Given the description of an element on the screen output the (x, y) to click on. 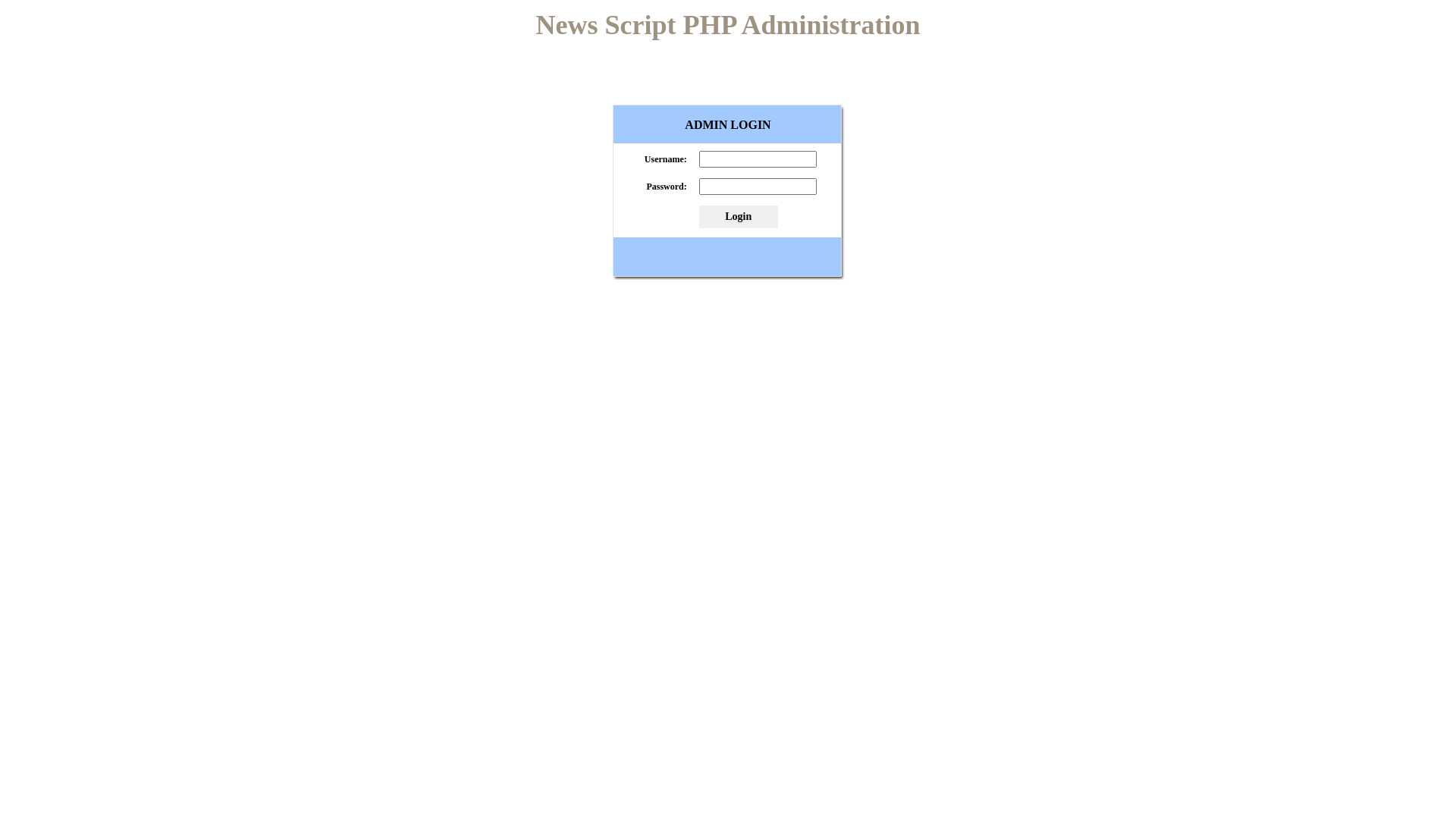
Login Element type: text (738, 216)
